Given the description of an element on the screen output the (x, y) to click on. 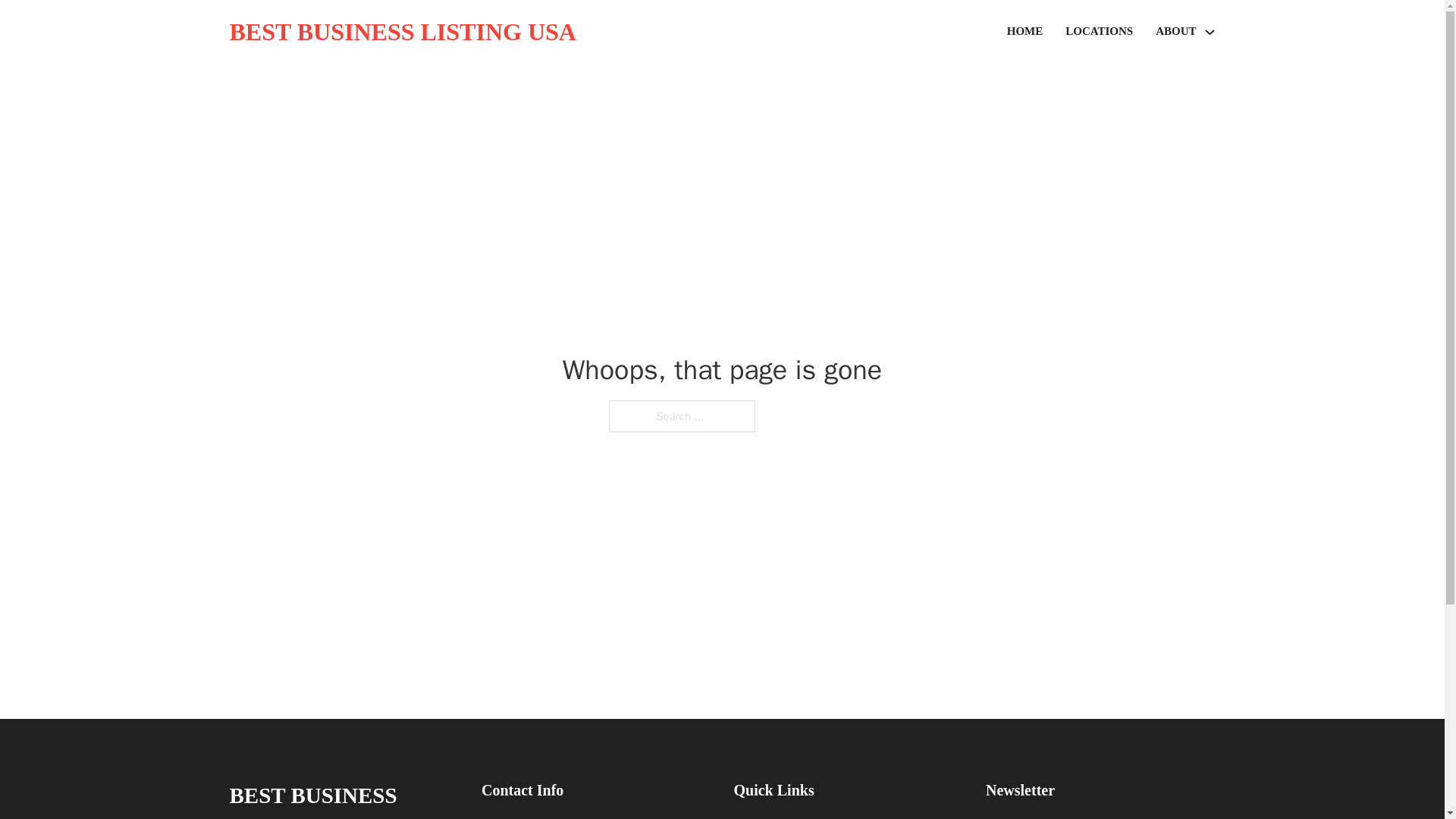
LOCATIONS (1098, 31)
HOME (1025, 31)
BEST BUSINESS LISTING USA (401, 31)
BEST BUSINESS LISTING USA (343, 798)
